Given the description of an element on the screen output the (x, y) to click on. 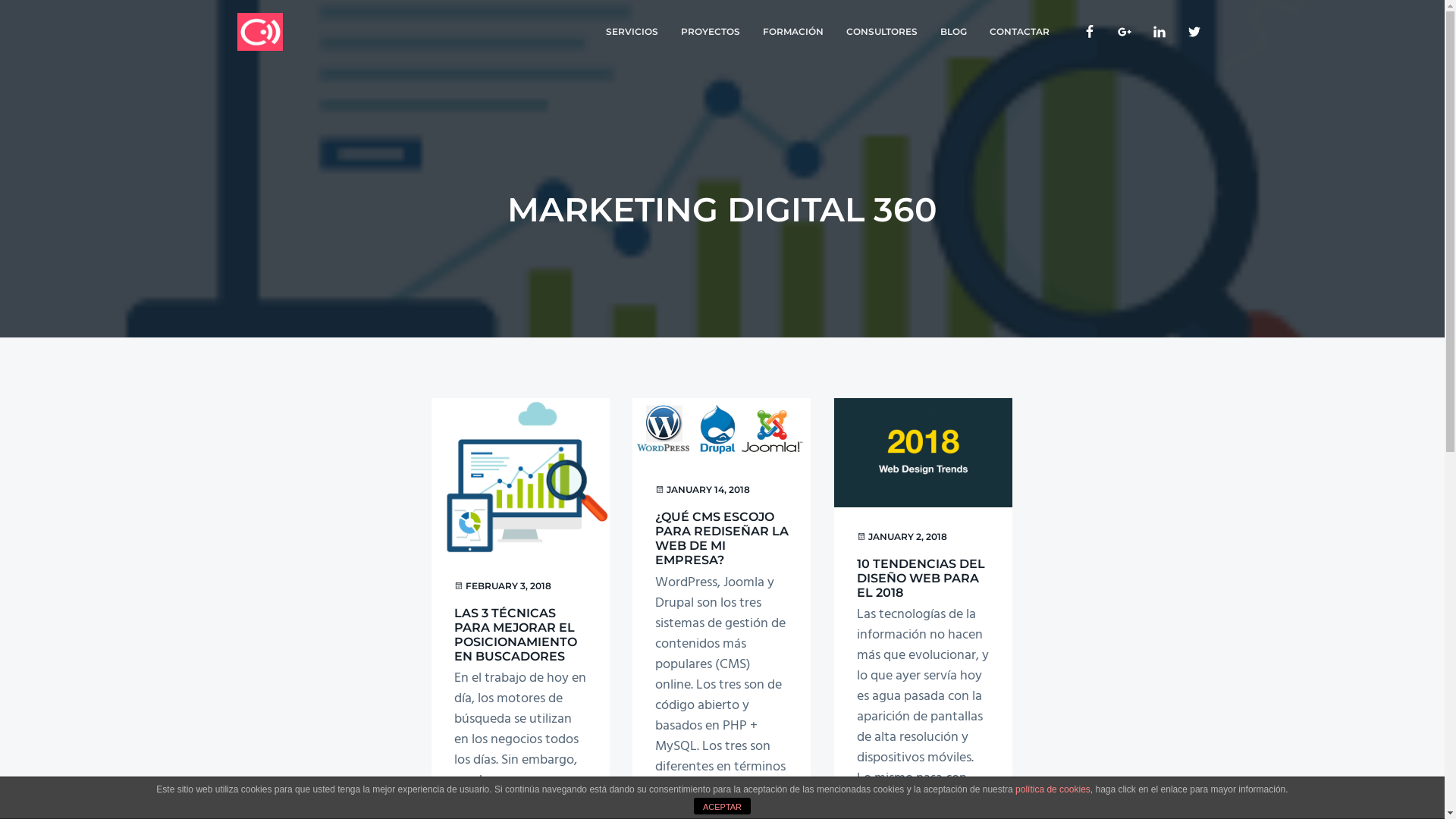
BLOG Element type: text (952, 31)
CONTACTAR Element type: text (1019, 31)
CONSULTING BARCELONA Element type: text (324, 56)
PROYECTOS Element type: text (709, 31)
ACEPTAR Element type: text (721, 805)
SERVICIOS Element type: text (631, 31)
CONSULTORES Element type: text (881, 31)
Skip to primary navigation Element type: text (0, 0)
